Given the description of an element on the screen output the (x, y) to click on. 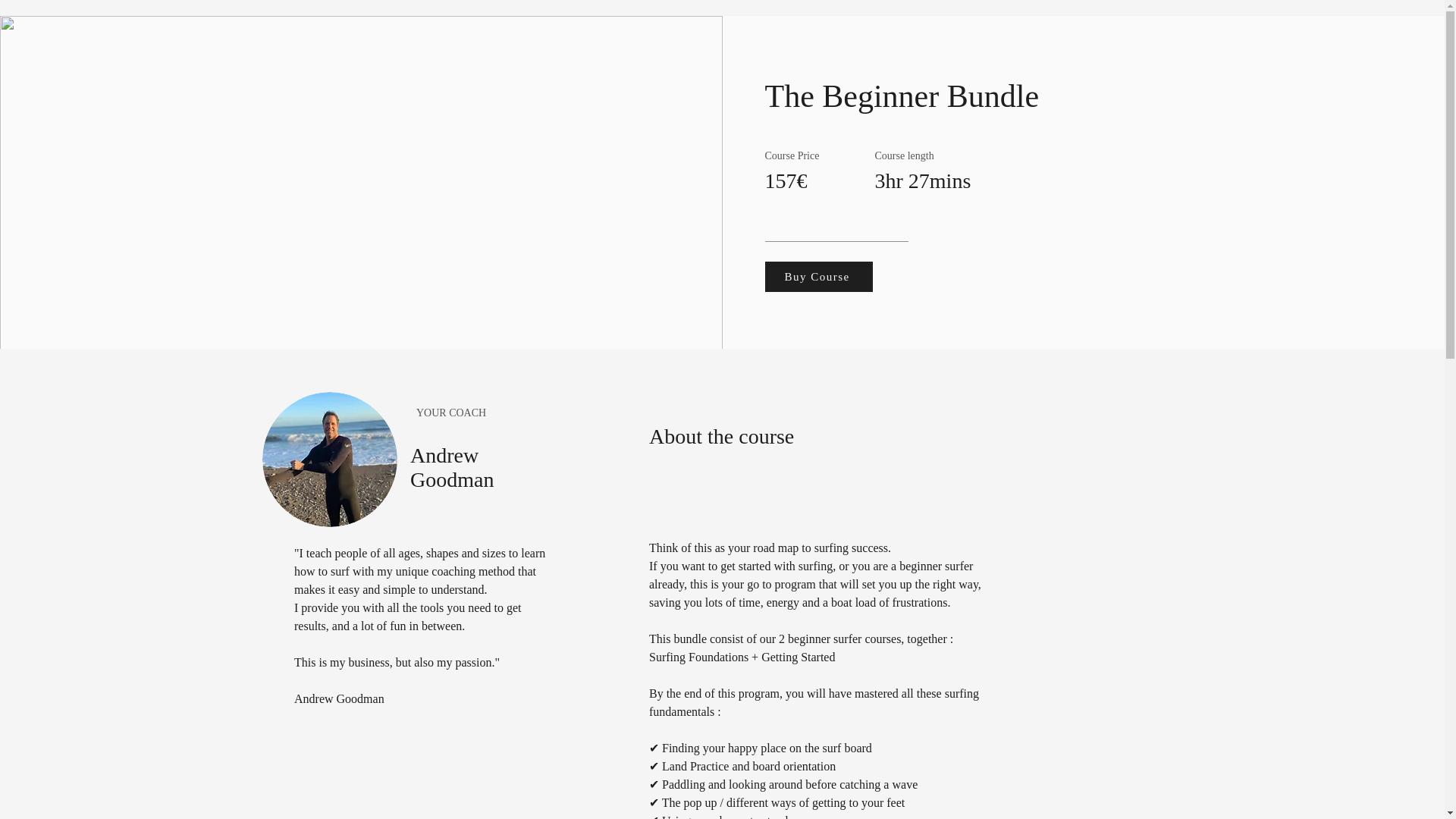
Buy Course (818, 276)
The Beginner Bundle (329, 459)
